Given the description of an element on the screen output the (x, y) to click on. 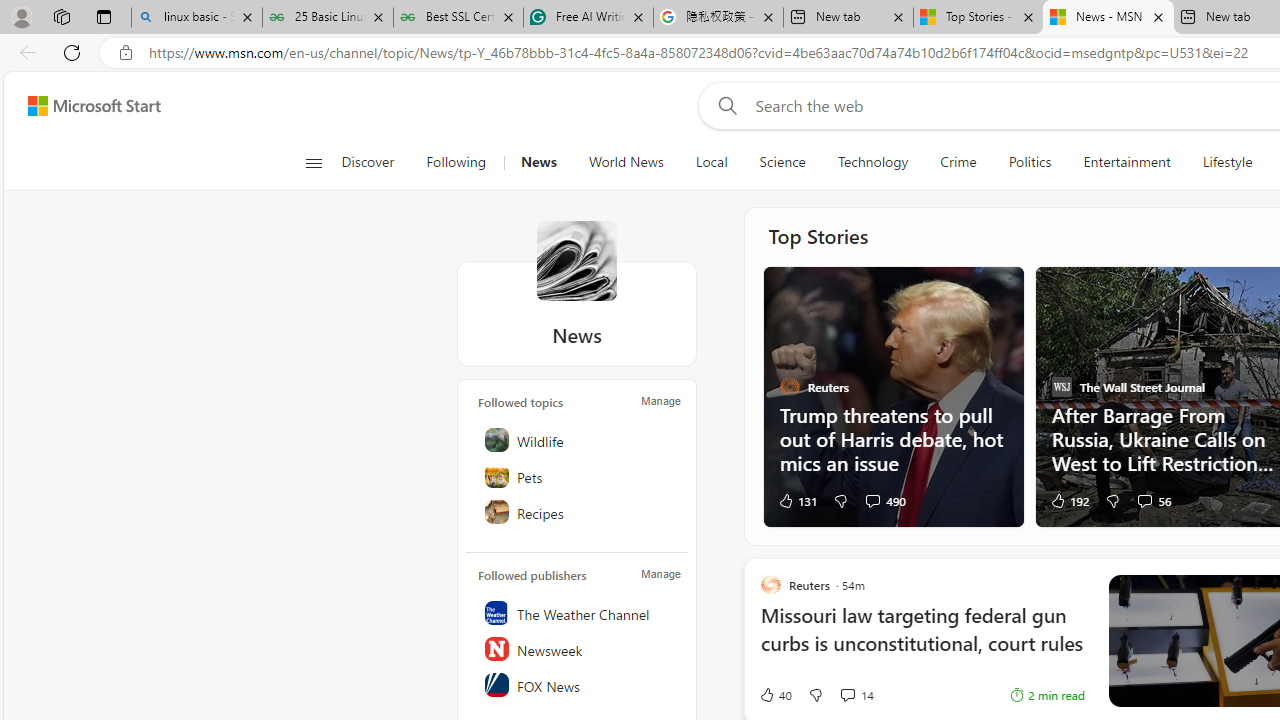
linux basic - Search (196, 17)
News - MSN (1108, 17)
The Weather Channel (578, 612)
View comments 56 Comment (1152, 500)
View comments 490 Comment (872, 500)
FOX News (578, 684)
View comments 490 Comment (884, 500)
